Given the description of an element on the screen output the (x, y) to click on. 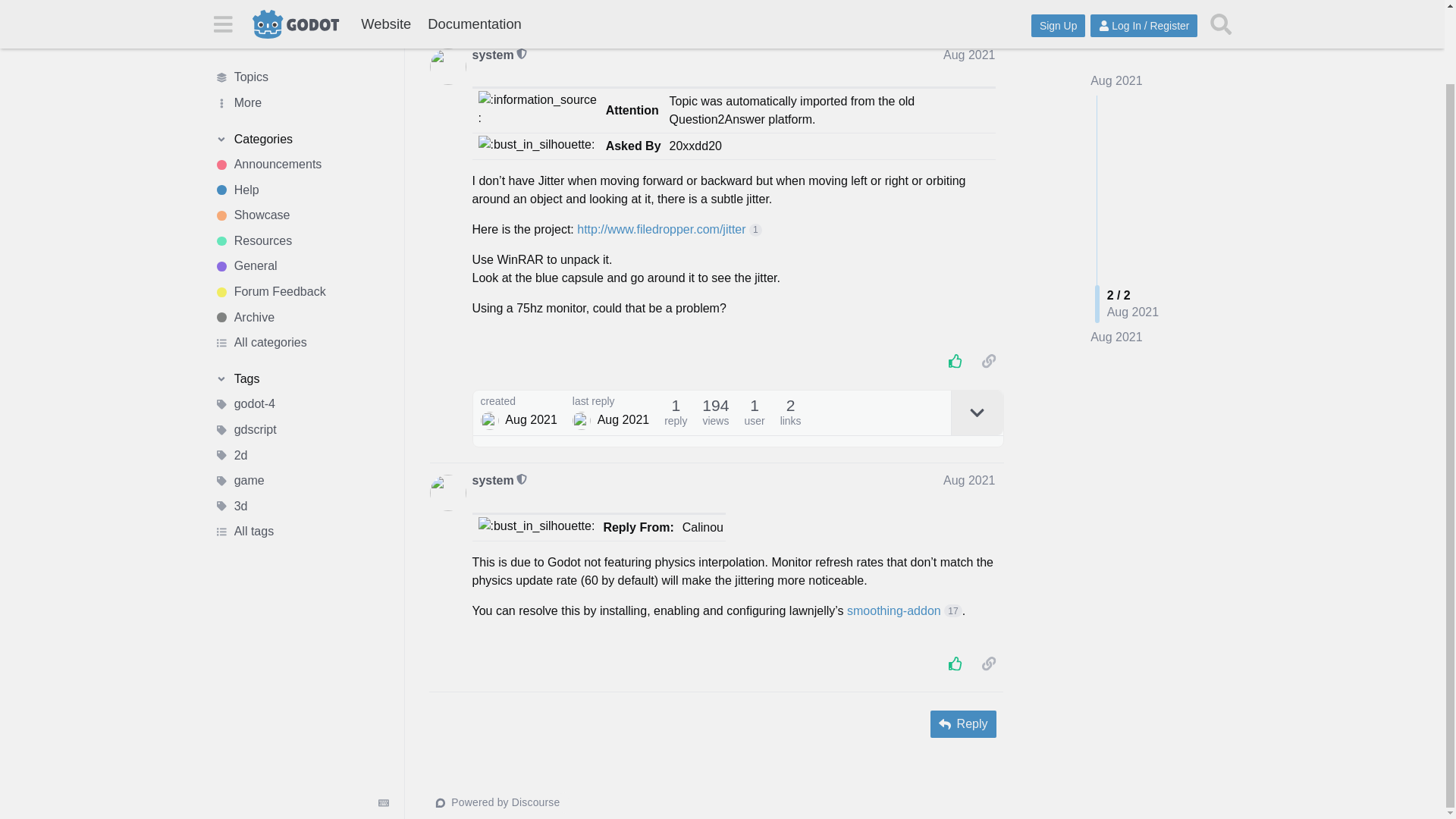
Toggle section (301, 56)
Archive (452, 16)
3d (301, 423)
system (492, 54)
Resources (301, 158)
All topics (301, 4)
Aug 2021 (1116, 300)
Forum Feedback (301, 208)
